Given the description of an element on the screen output the (x, y) to click on. 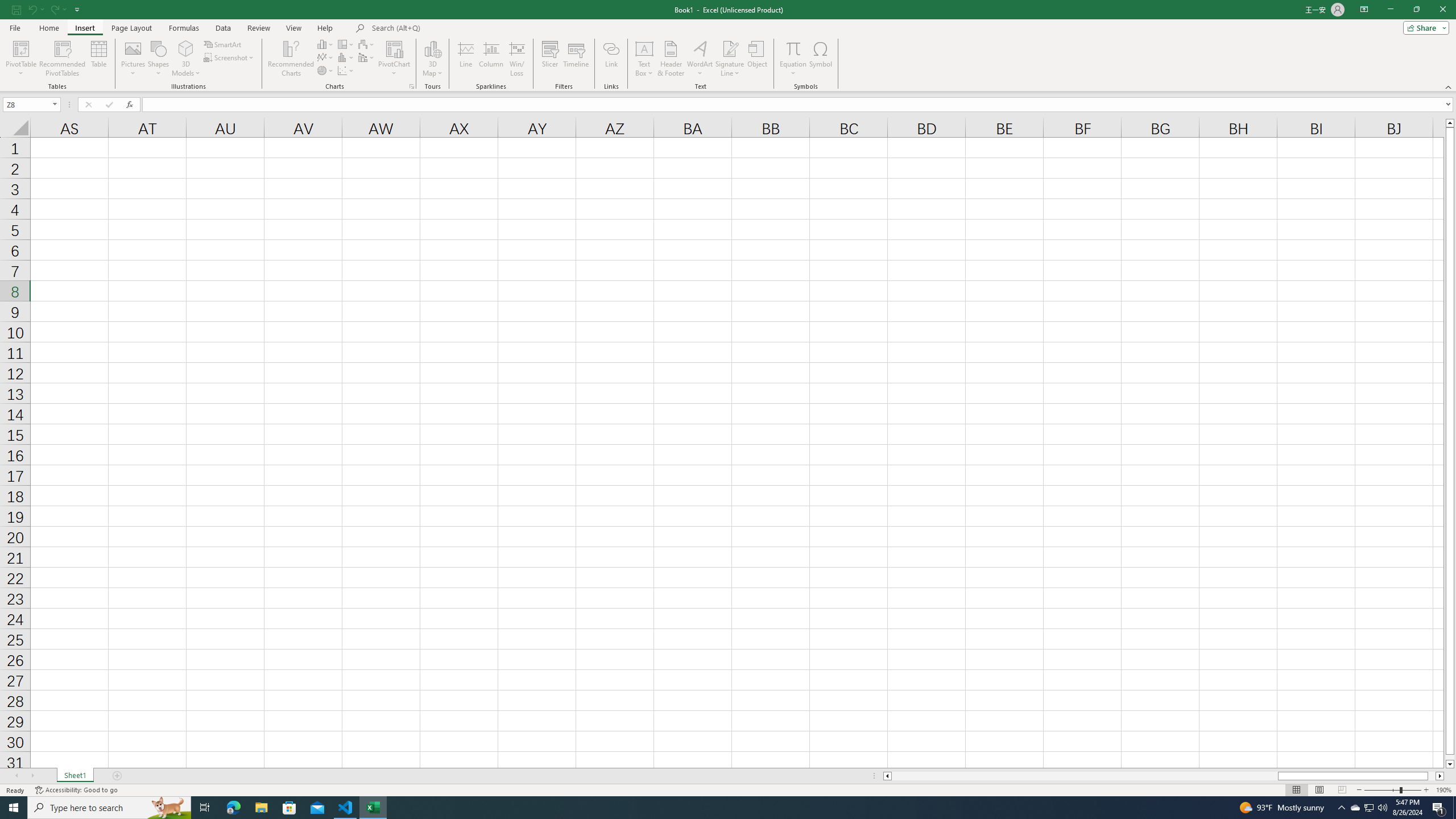
PivotTable (20, 48)
Page left (1084, 775)
Line (465, 58)
Object... (757, 58)
Draw Horizontal Text Box (643, 48)
Equation (793, 58)
